Given the description of an element on the screen output the (x, y) to click on. 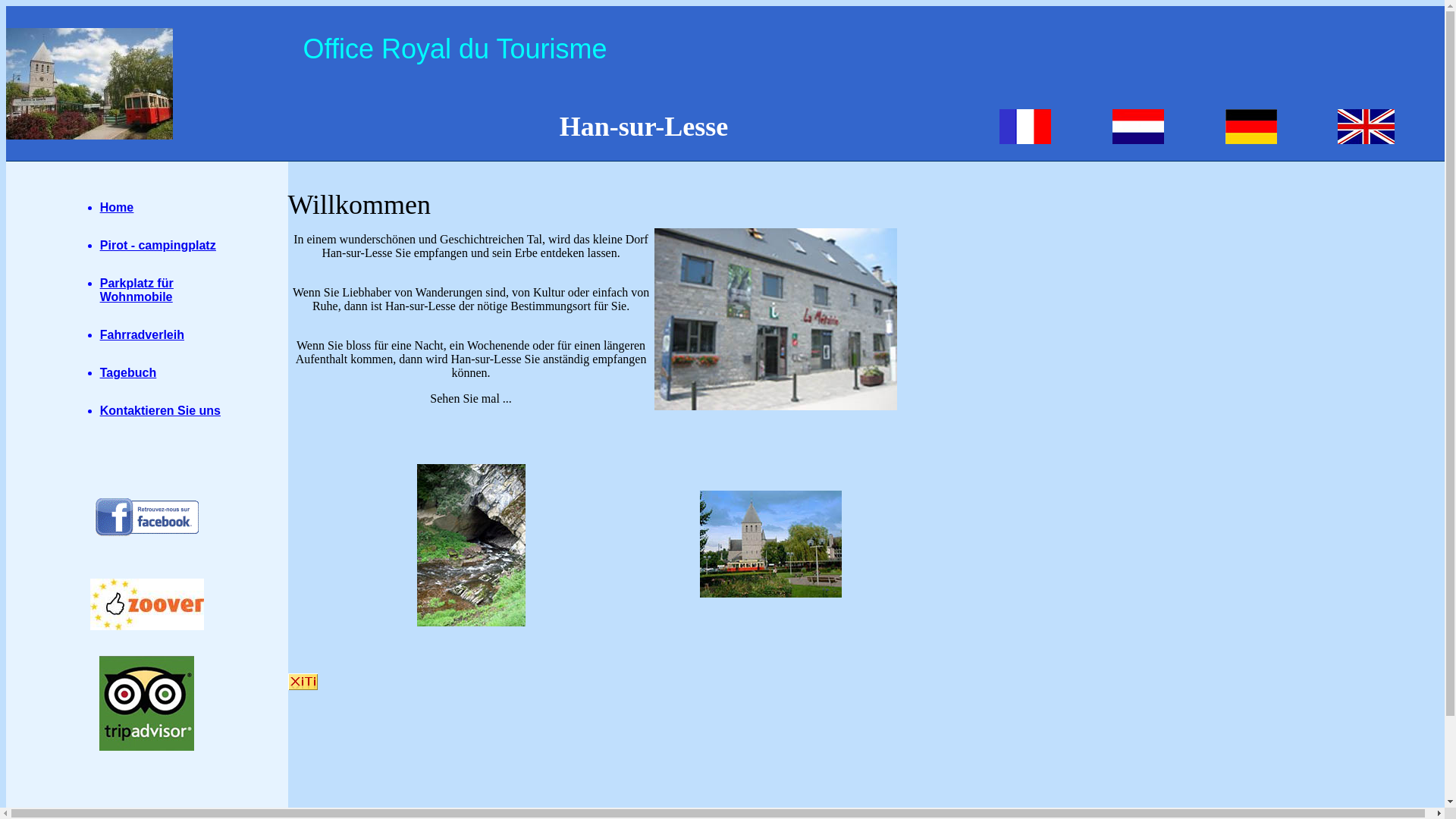
Fahrradverleih Element type: text (142, 334)
Tagebuch Element type: text (128, 372)
Internet Audience Element type: hover (302, 681)
Home Element type: text (116, 206)
Kontaktieren Sie uns Element type: text (160, 410)
Pirot - campingplatz Element type: text (158, 244)
WebAnalytics Element type: hover (302, 686)
